Given the description of an element on the screen output the (x, y) to click on. 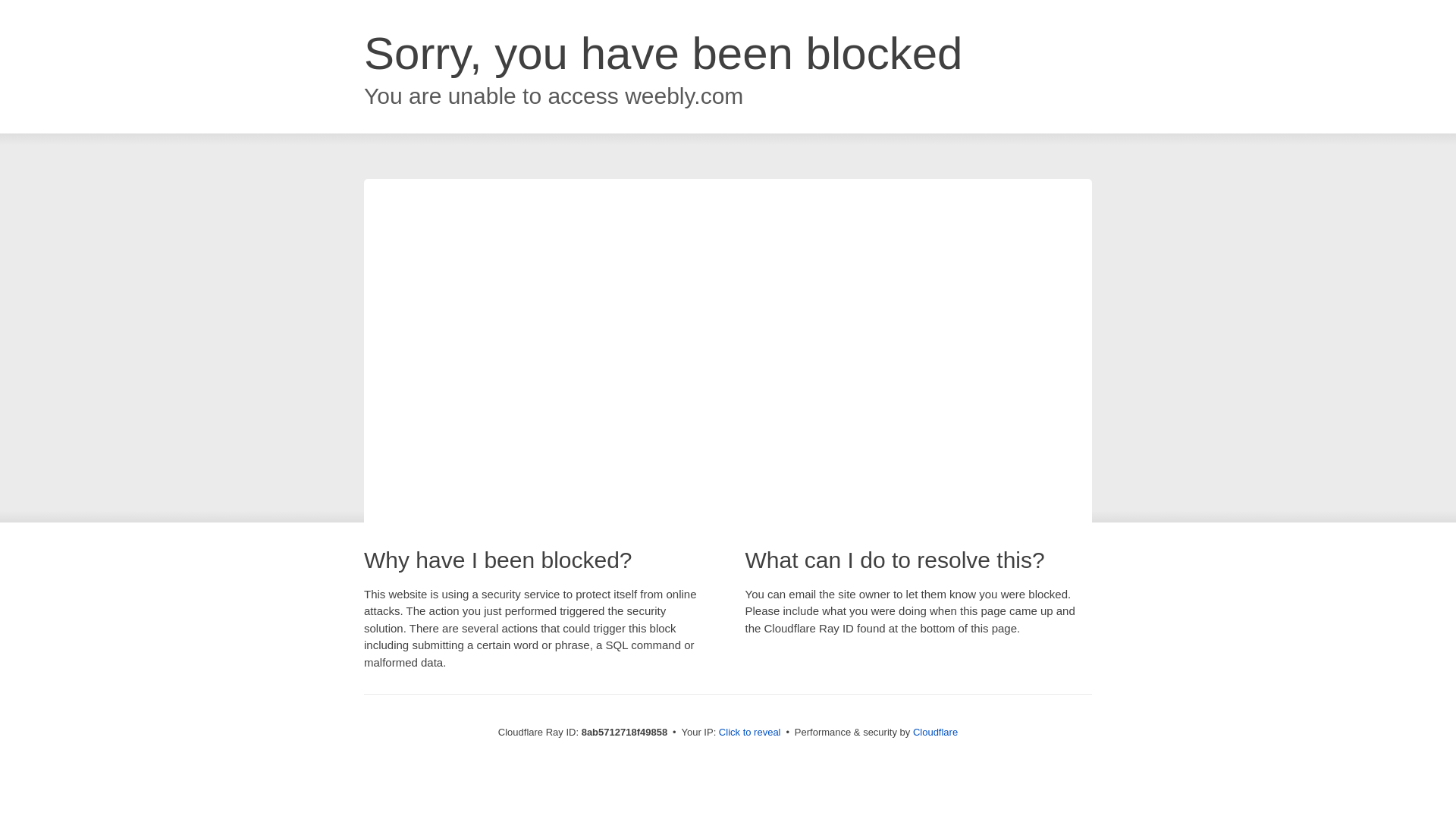
Cloudflare (935, 731)
Click to reveal (749, 732)
